Given the description of an element on the screen output the (x, y) to click on. 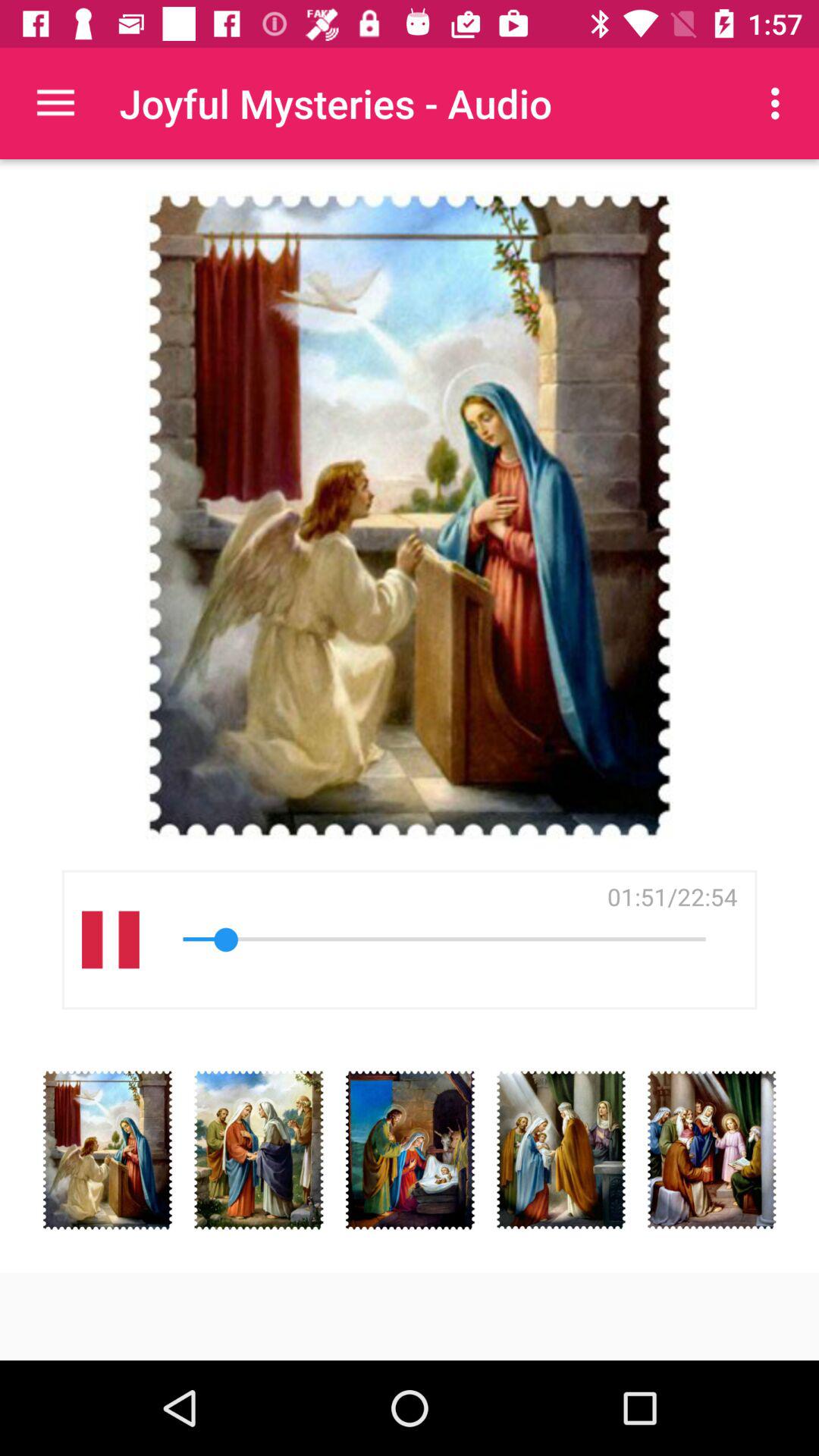
turn on icon at the top left corner (55, 103)
